Given the description of an element on the screen output the (x, y) to click on. 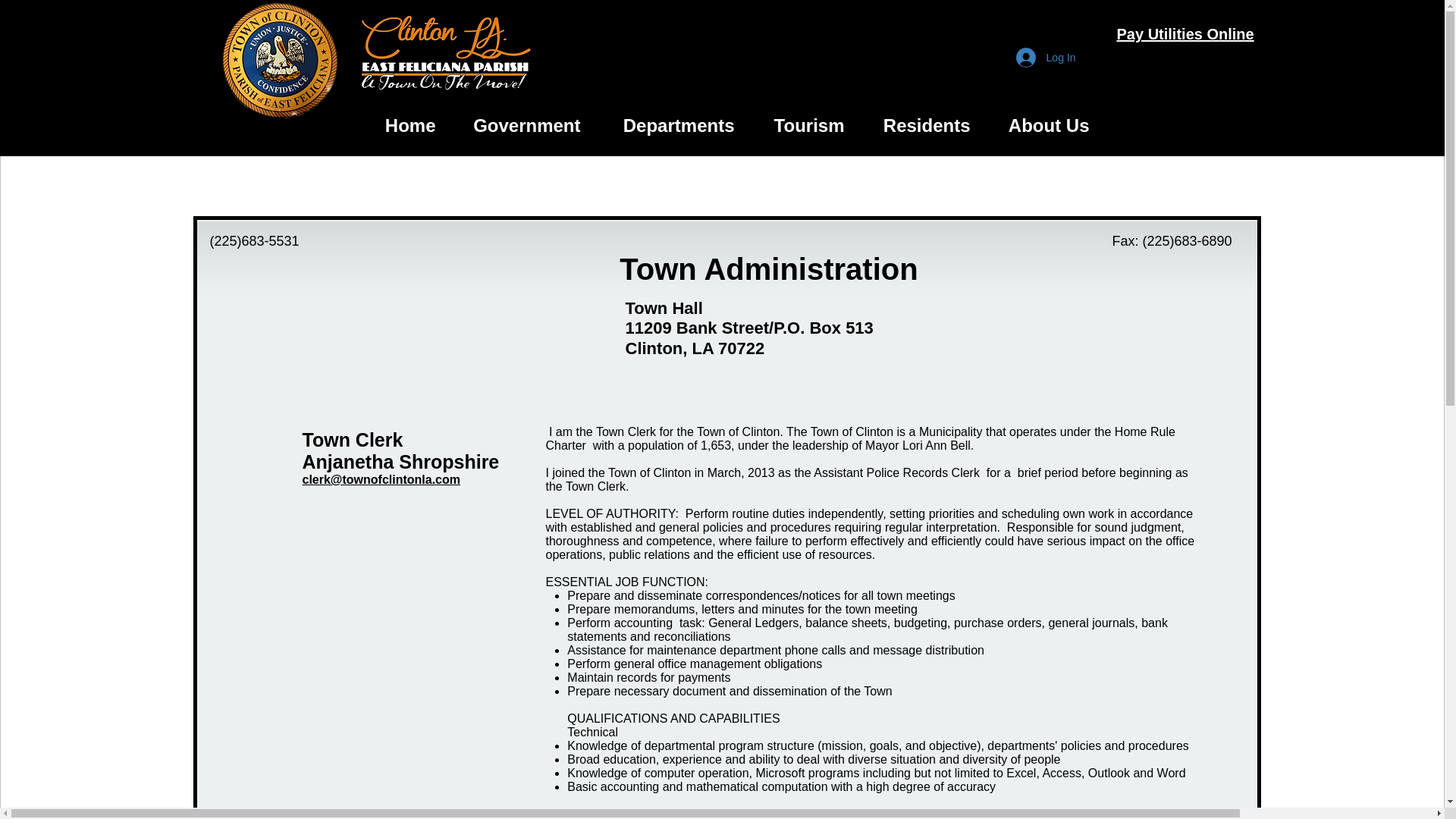
Pay Utilities Online (1184, 33)
Departments (668, 125)
Tourism (800, 125)
Log In (1046, 57)
About Us (1040, 125)
Home (402, 125)
clinton logo.png (280, 59)
Residents (918, 125)
Government (519, 125)
